Given the description of an element on the screen output the (x, y) to click on. 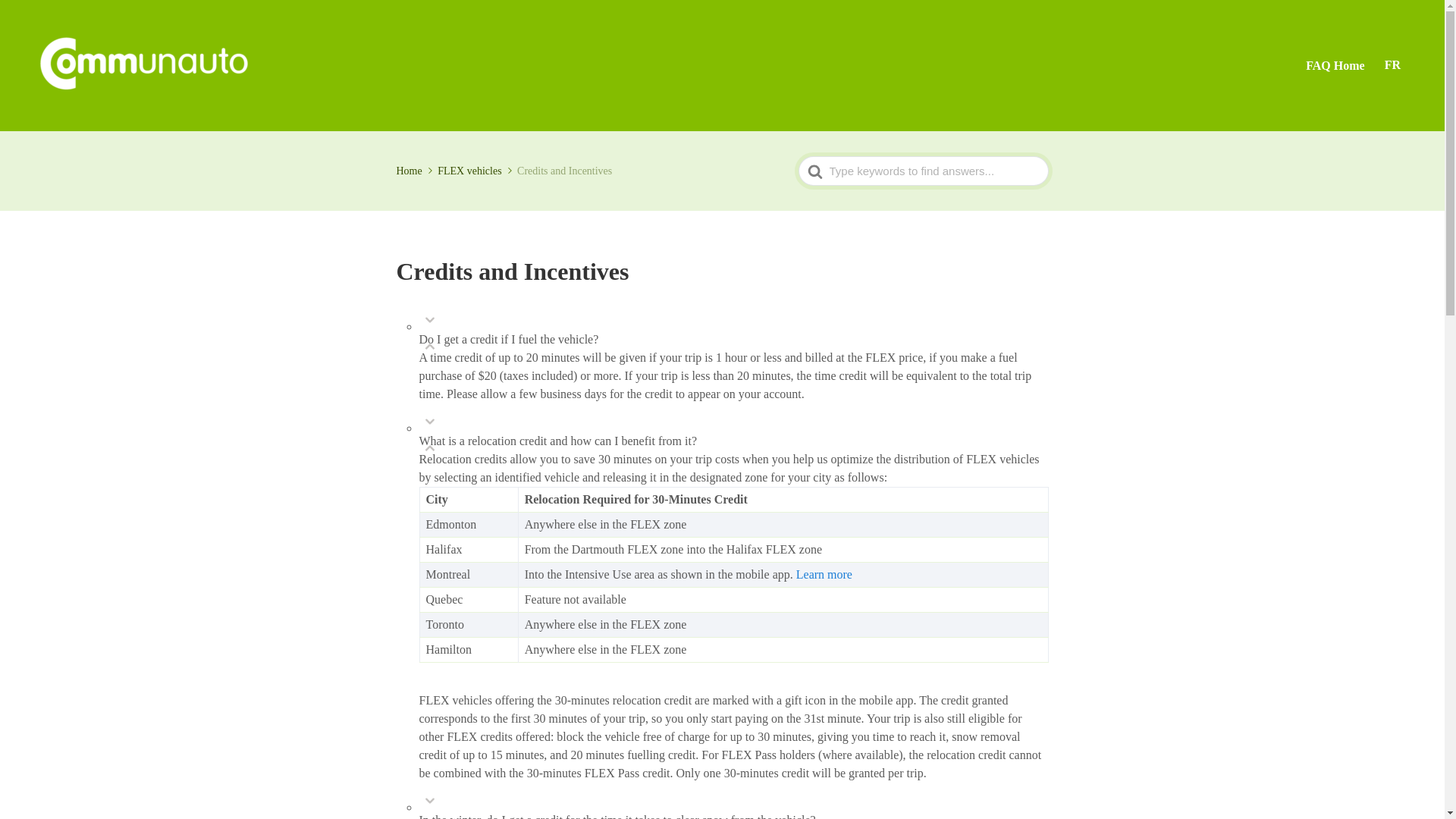
Home (414, 170)
FR (1392, 65)
Learn more (823, 574)
FLEX vehicles (475, 170)
FAQ Home (1335, 64)
